Given the description of an element on the screen output the (x, y) to click on. 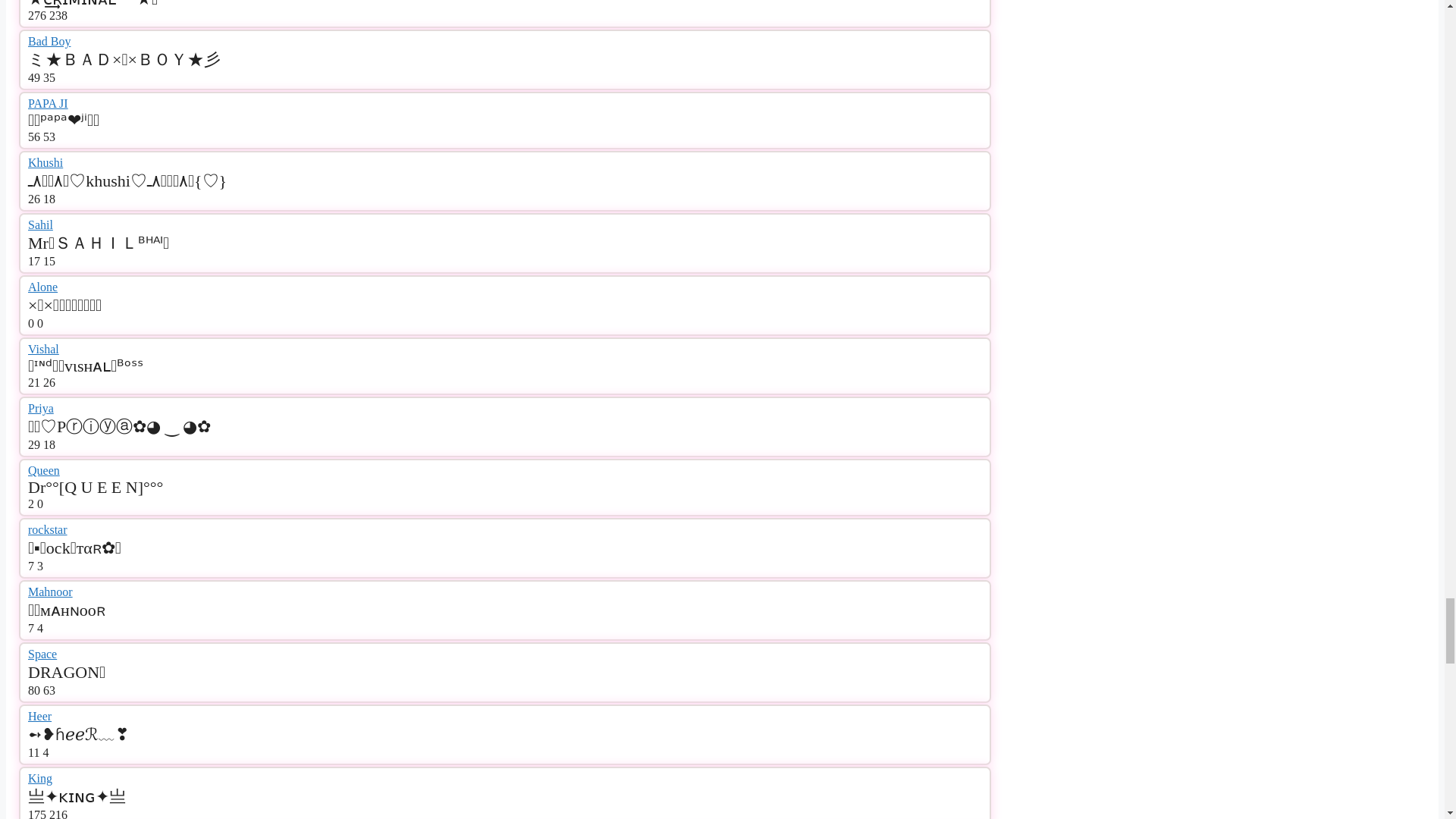
Votes down (49, 136)
rockstar (46, 529)
Heer (38, 716)
Votes down (49, 198)
Votes up (33, 77)
Queen (43, 470)
Votes down (49, 260)
Bad Boy (48, 41)
Priya (40, 408)
Alone (42, 286)
